Given the description of an element on the screen output the (x, y) to click on. 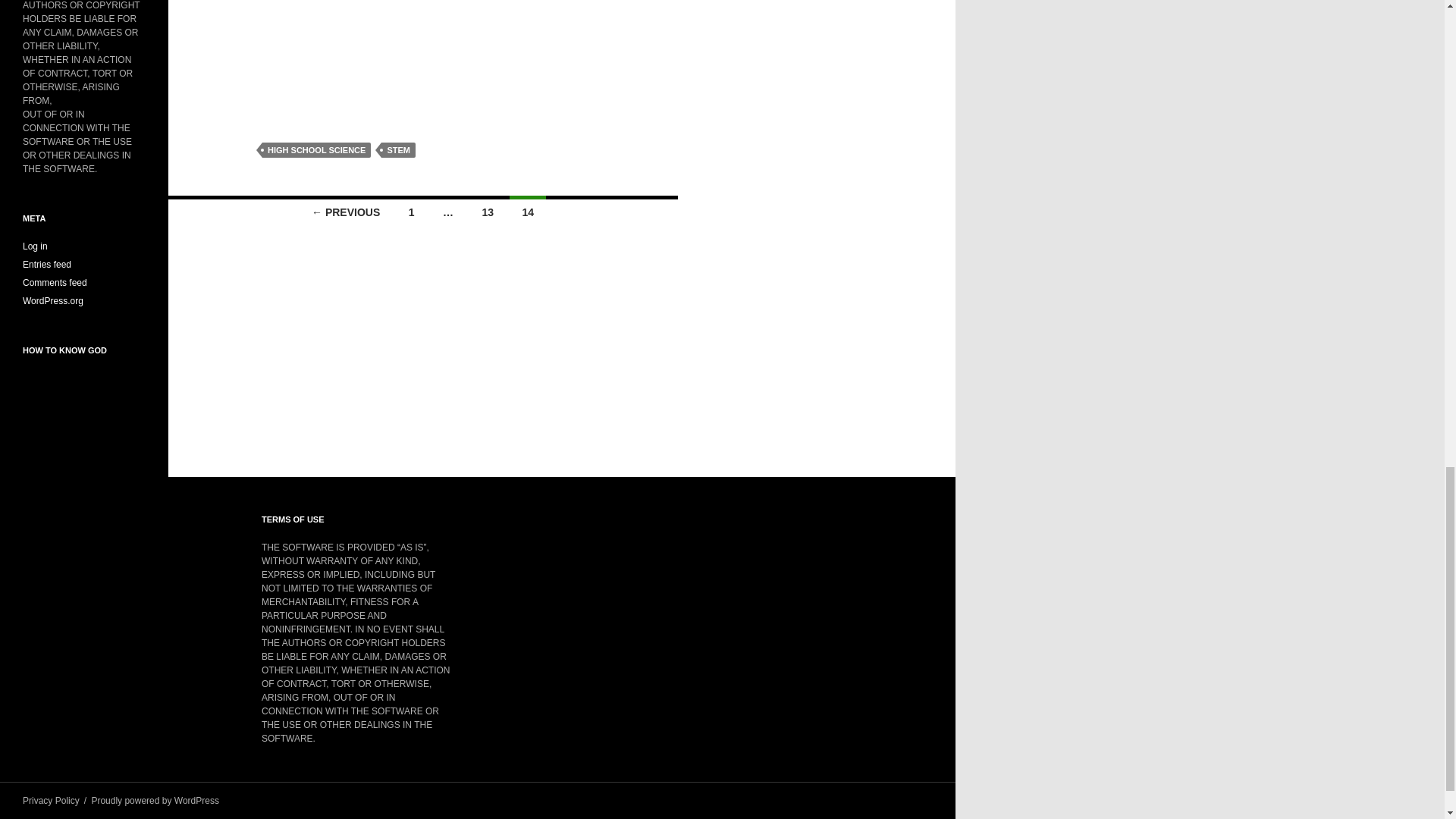
1 (411, 210)
13 (486, 210)
HIGH SCHOOL SCIENCE (316, 150)
STEM (397, 150)
